Given the description of an element on the screen output the (x, y) to click on. 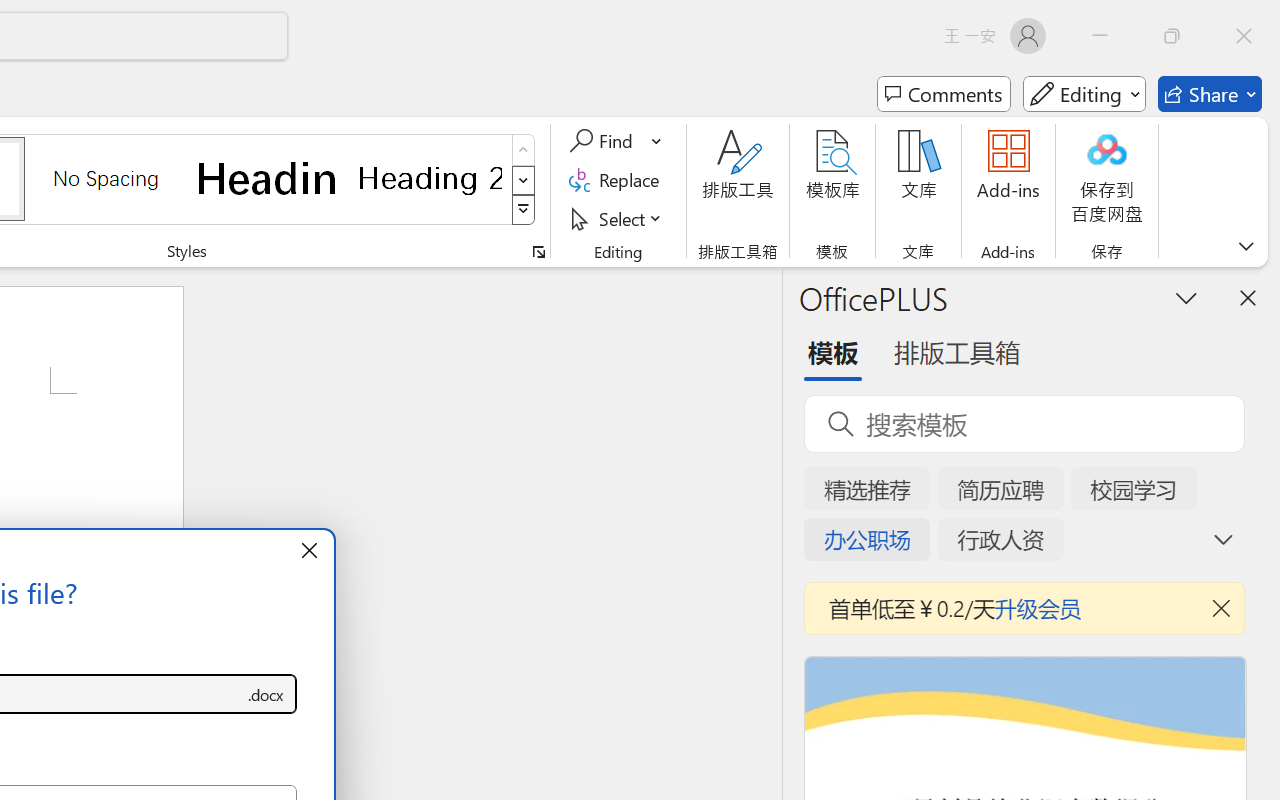
Ribbon Display Options (1246, 245)
Styles... (538, 252)
Select (618, 218)
Heading 2 (429, 178)
Share (1210, 94)
Find (604, 141)
More Options (657, 141)
